Given the description of an element on the screen output the (x, y) to click on. 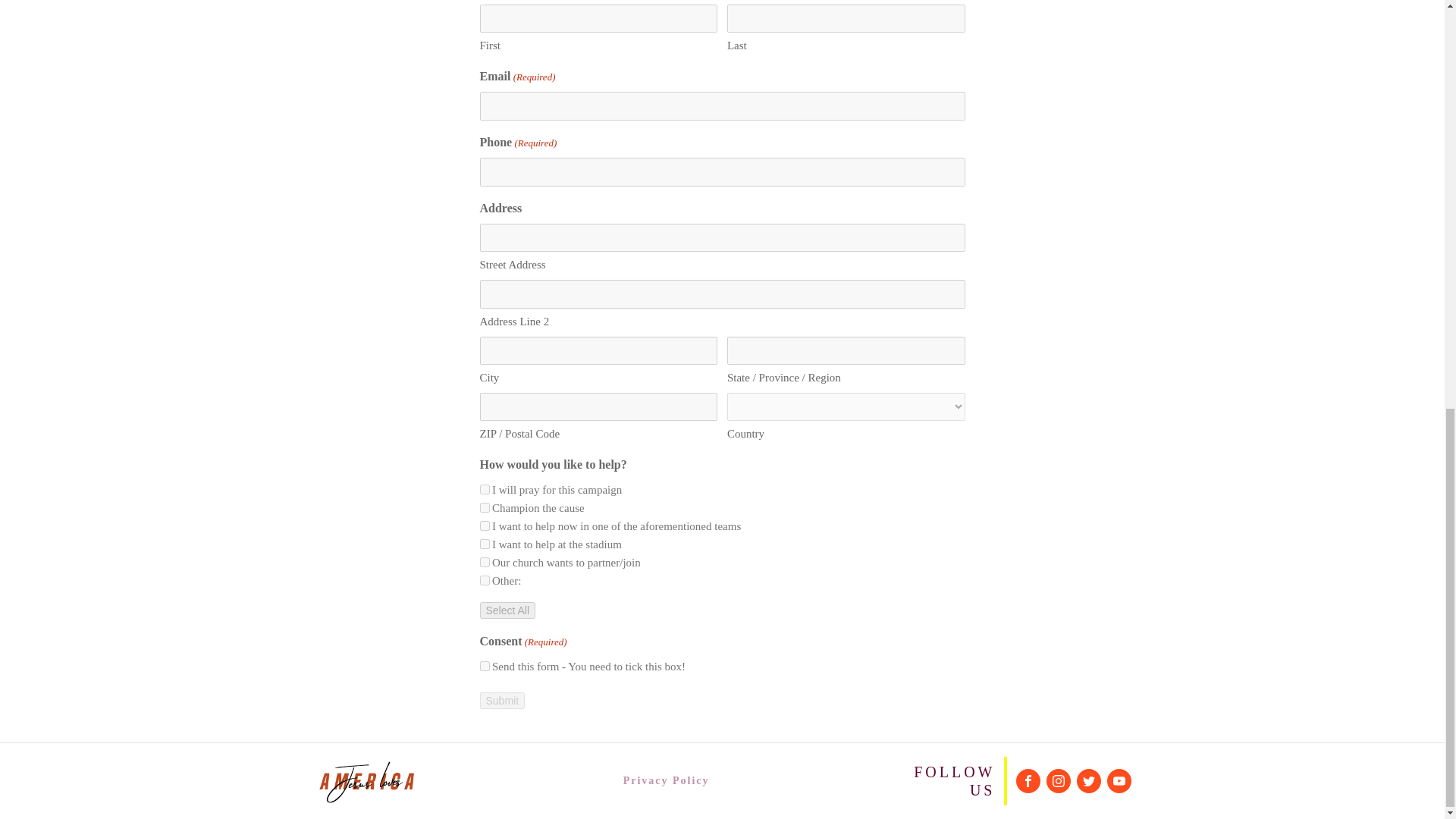
Champion the cause (484, 507)
Submit (501, 700)
I will pray for this campaign (484, 489)
Privacy Policy (666, 780)
I want to help now in one of the aforementioned teams (484, 525)
I want to help at the stadium (484, 543)
Submit (501, 700)
Select All (507, 610)
Other: (484, 580)
Send this form - You need to tick this box! (484, 665)
